Given the description of an element on the screen output the (x, y) to click on. 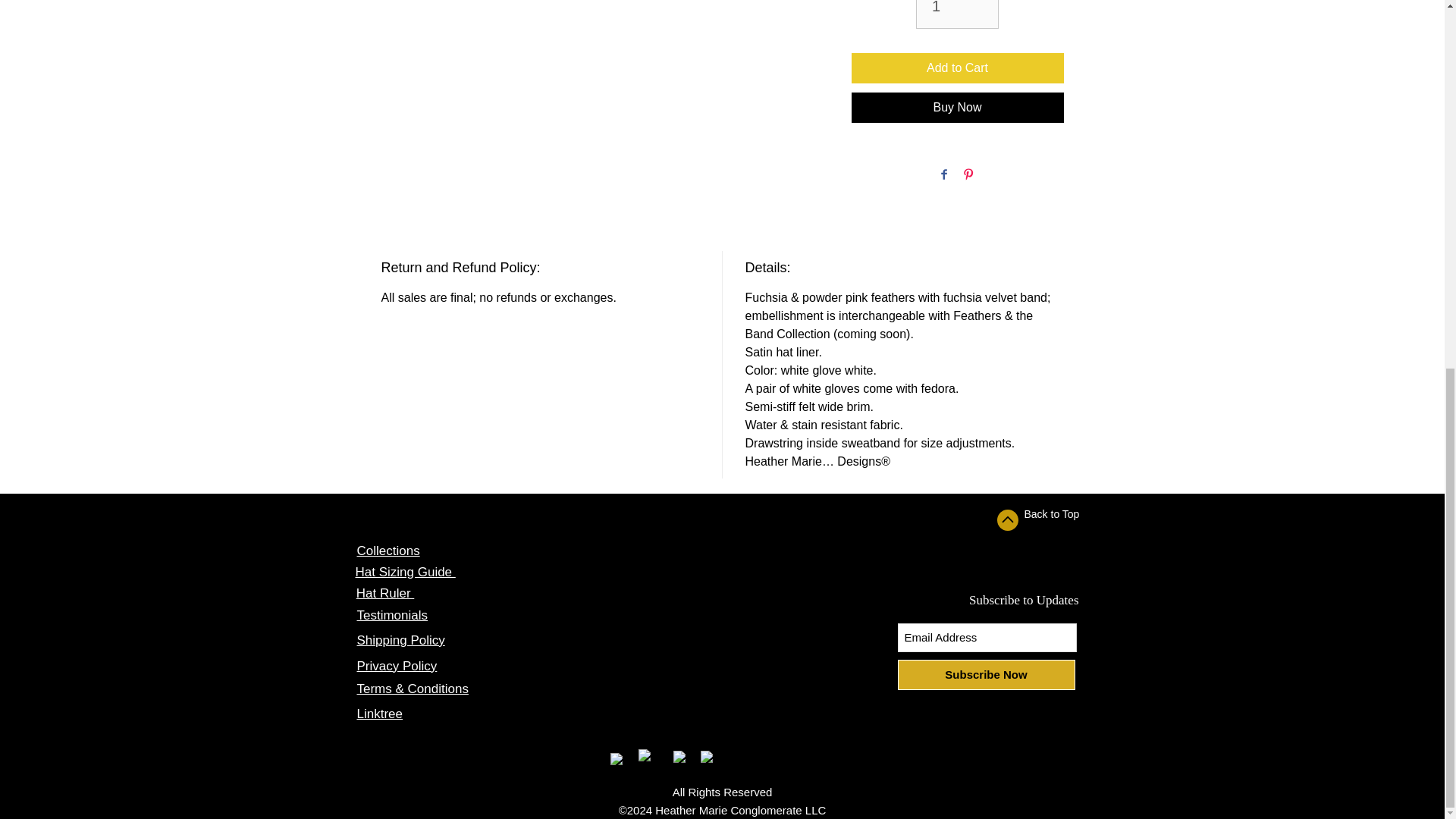
Collections (387, 550)
Add to Cart (956, 68)
Hat Sizing Guide  (404, 572)
Back to Top (1050, 513)
1 (956, 14)
Hat Ruler  (385, 593)
Buy Now (956, 107)
Testimonials (392, 615)
Shipping Policy (400, 640)
Privacy Policy (396, 666)
